Given the description of an element on the screen output the (x, y) to click on. 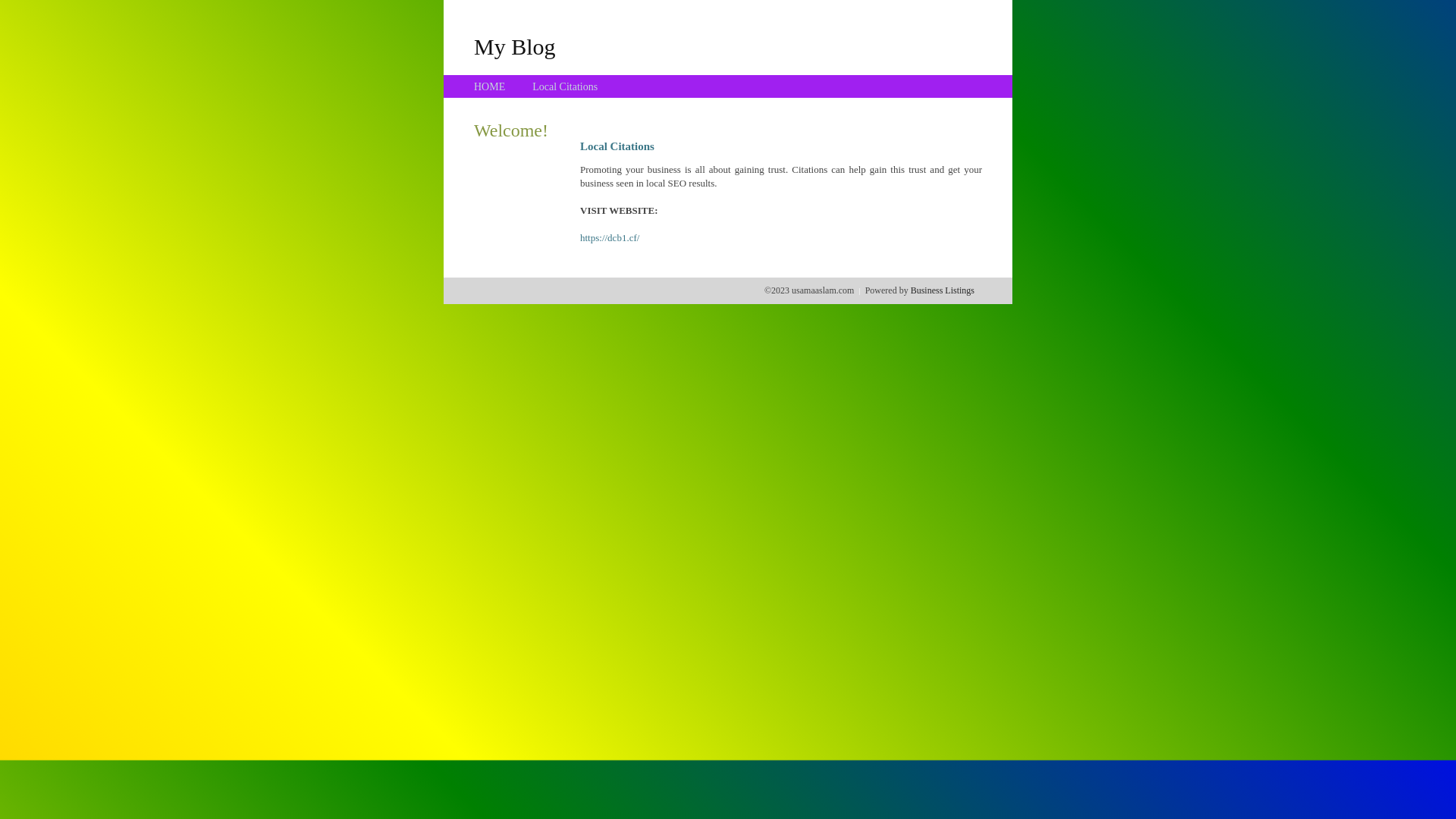
https://dcb1.cf/ Element type: text (609, 237)
My Blog Element type: text (514, 46)
Business Listings Element type: text (942, 290)
HOME Element type: text (489, 86)
Local Citations Element type: text (564, 86)
